Given the description of an element on the screen output the (x, y) to click on. 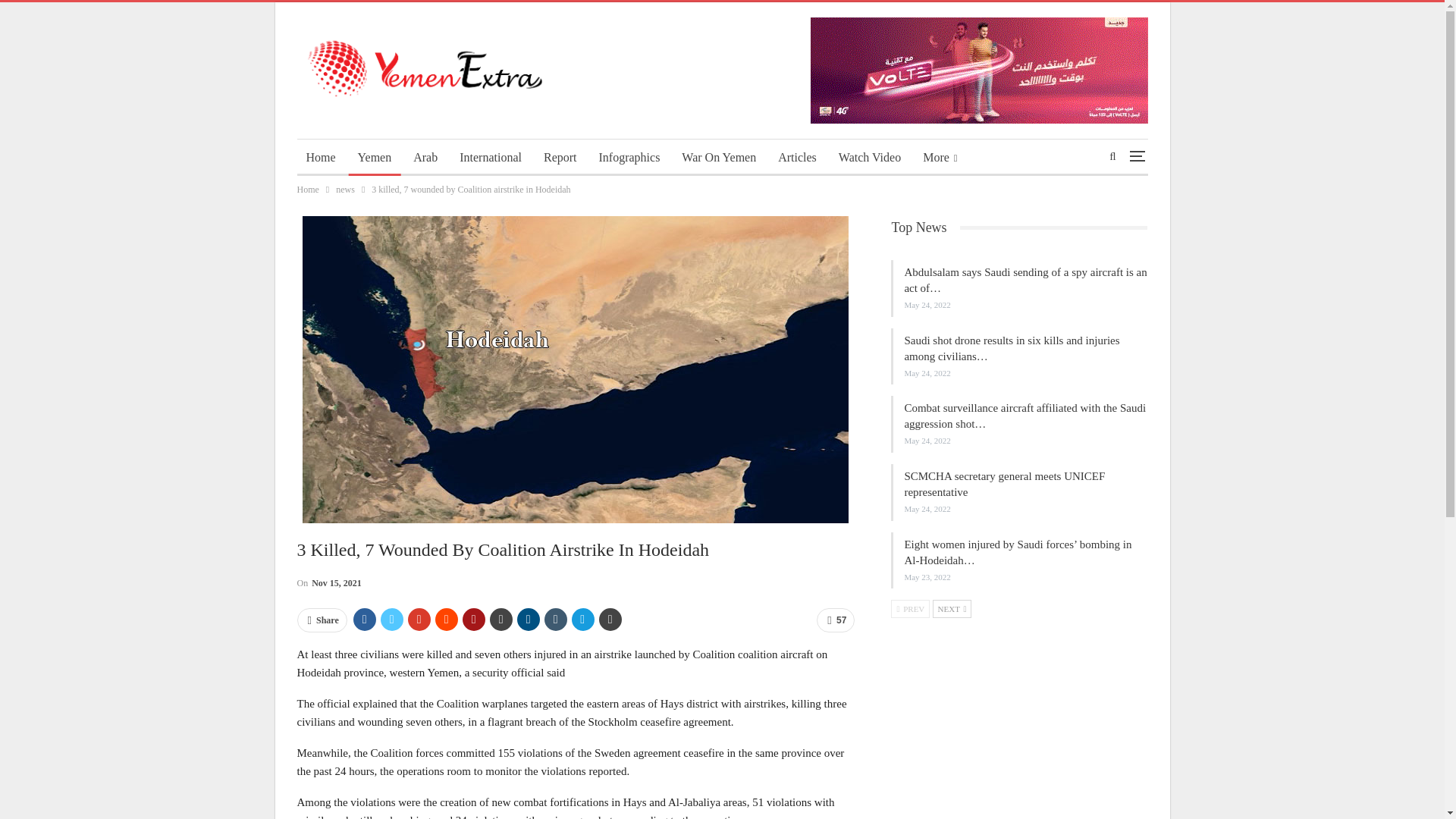
More (940, 157)
Next (952, 608)
International (490, 157)
Arab (425, 157)
War On Yemen (718, 157)
Previous (910, 608)
news (345, 189)
Home (307, 189)
Yemen (375, 157)
Articles (796, 157)
